Given the description of an element on the screen output the (x, y) to click on. 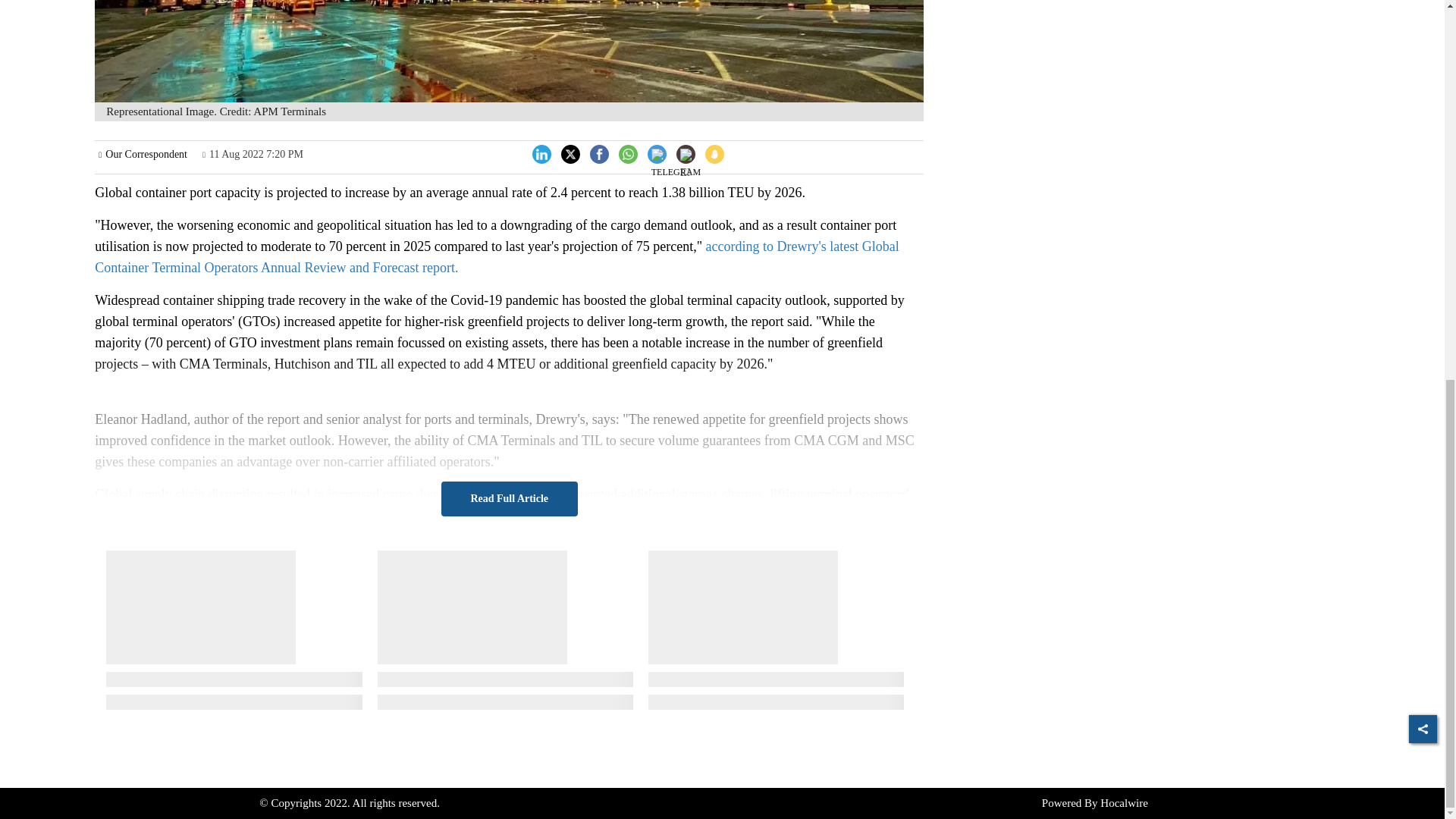
Greenfield projects back in favour with terminal operators (508, 51)
Facebook (598, 152)
linkedin (541, 153)
Share by Email (686, 155)
twitter (570, 153)
facebook (599, 153)
LinkedIn (541, 152)
telegram (675, 165)
koo (714, 153)
Twitter (569, 152)
whatsapp (628, 153)
